Given the description of an element on the screen output the (x, y) to click on. 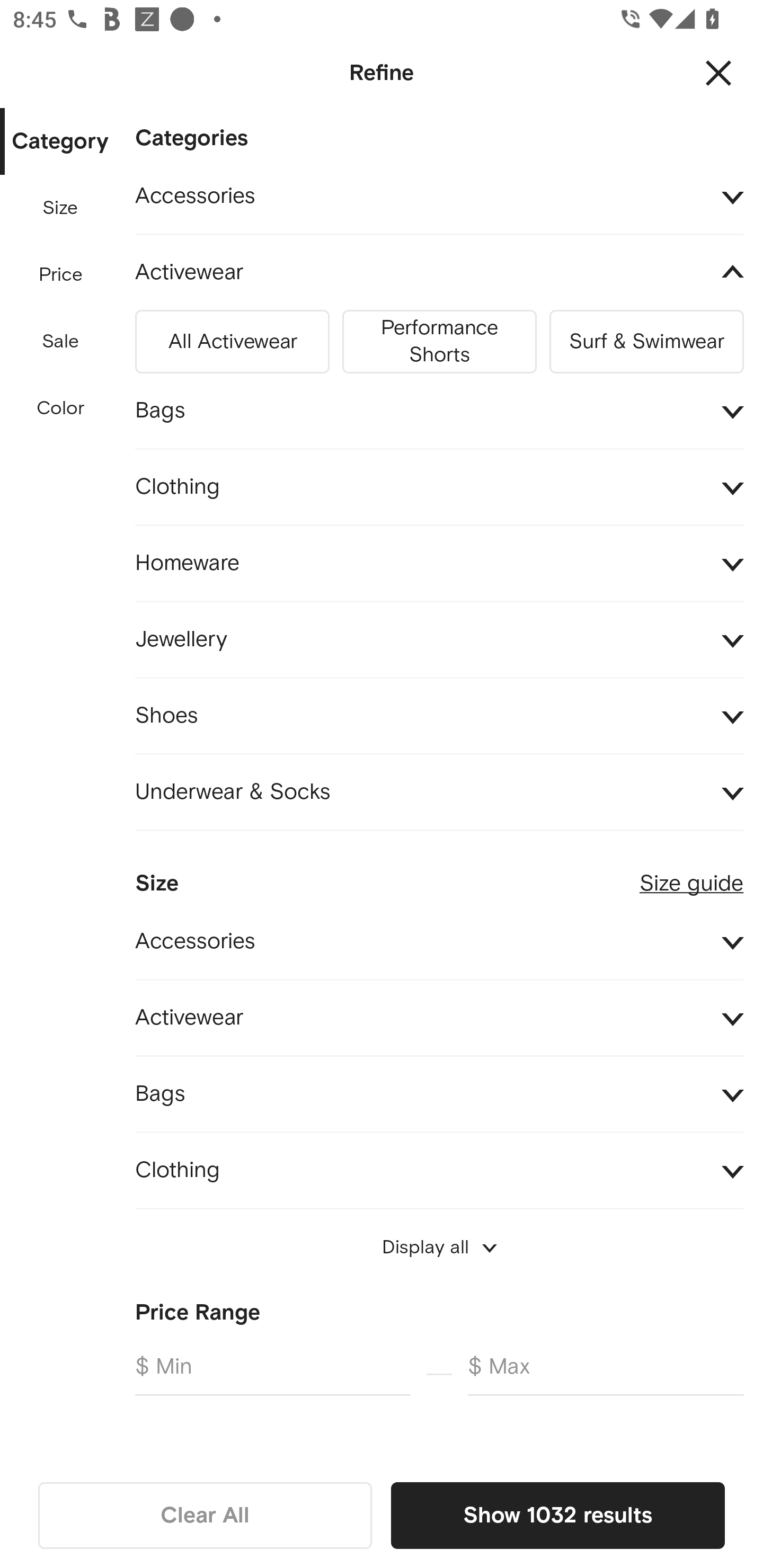
Category (60, 141)
Accessories (439, 196)
Size (60, 208)
Activewear (439, 272)
Price (60, 274)
All Activewear (232, 338)
Performance Shorts (439, 338)
Surf & Swimwear (646, 338)
Sale (60, 342)
Color (60, 408)
Bags (439, 410)
Clothing (439, 486)
Homeware (439, 563)
Jewellery (439, 639)
Shoes (439, 715)
Underwear & Socks (439, 792)
Size guide (691, 875)
Accessories (439, 941)
Activewear (439, 1018)
Bags (439, 1094)
Clothing (439, 1170)
Display all (439, 1246)
$ Min (272, 1373)
$ Max (605, 1373)
Clear All (205, 1515)
Show 1032 results (557, 1515)
